Given the description of an element on the screen output the (x, y) to click on. 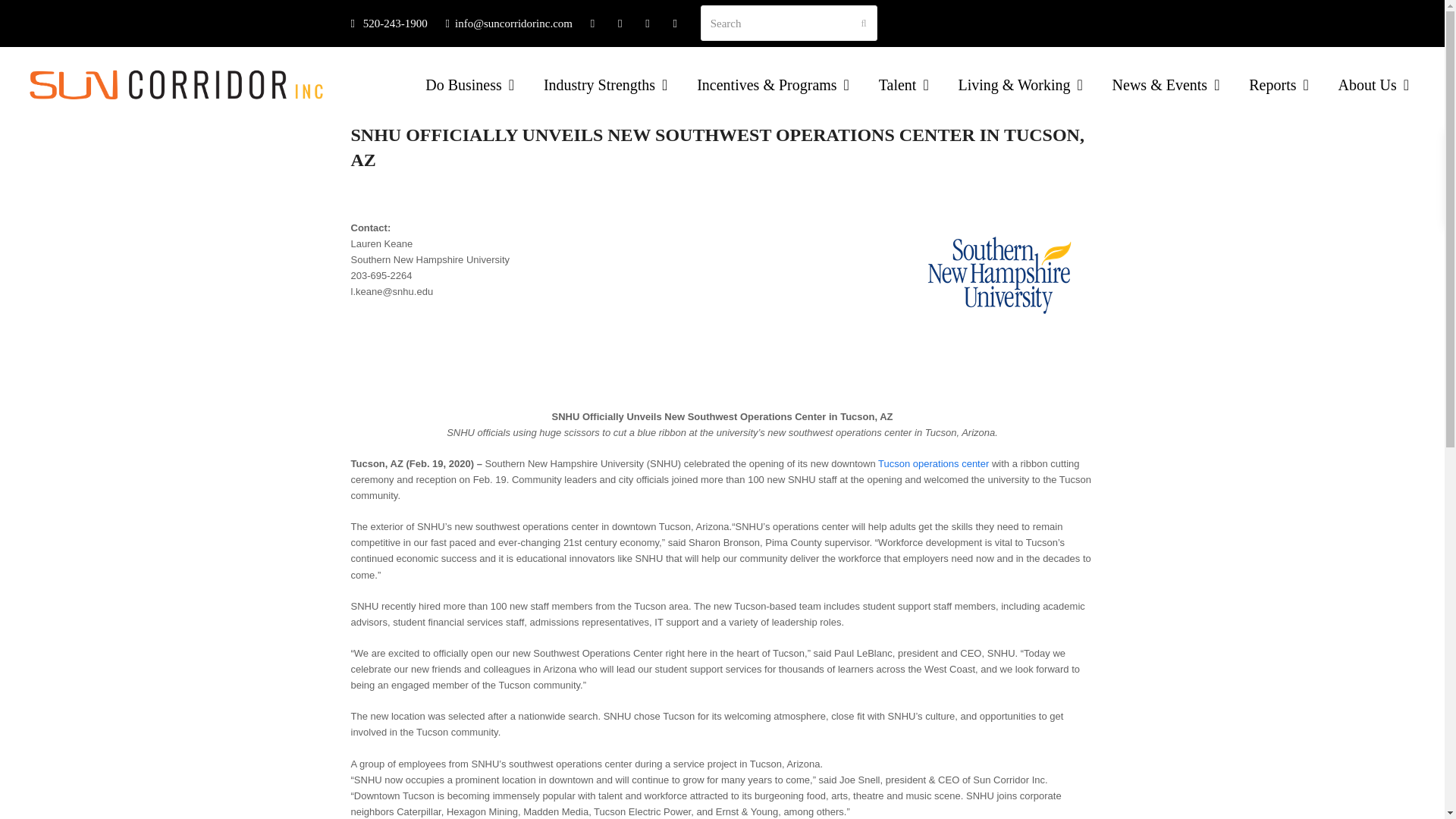
Talent (904, 84)
Industry Strengths (605, 84)
Do Business (469, 84)
